Given the description of an element on the screen output the (x, y) to click on. 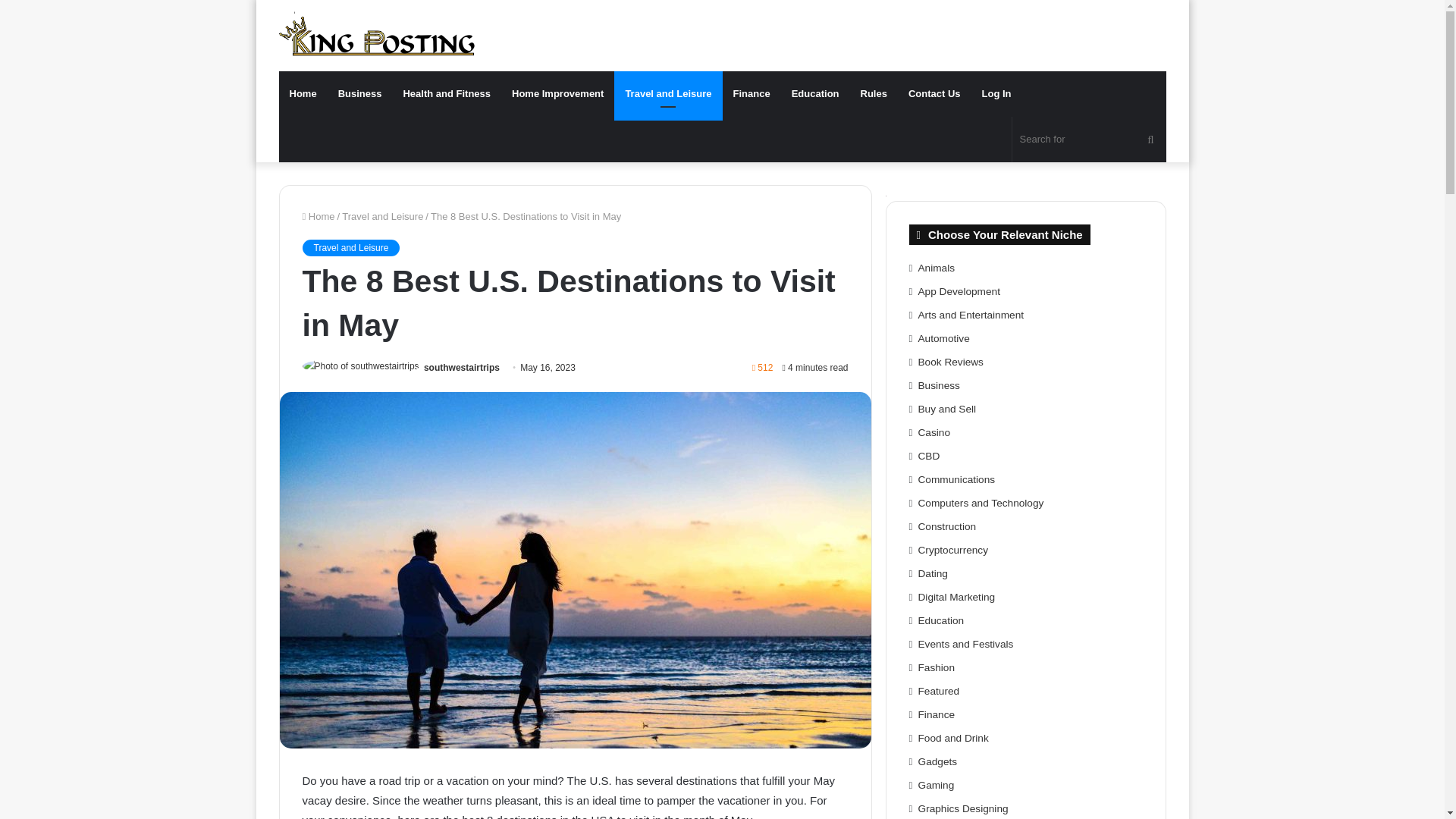
Education (815, 94)
Contact Us (934, 94)
Travel and Leisure (349, 247)
southwestairtrips (461, 367)
Home Improvement (557, 94)
Travel and Leisure (668, 94)
King Posting (376, 33)
Business (360, 94)
Travel and Leisure (382, 215)
Home (303, 94)
